Given the description of an element on the screen output the (x, y) to click on. 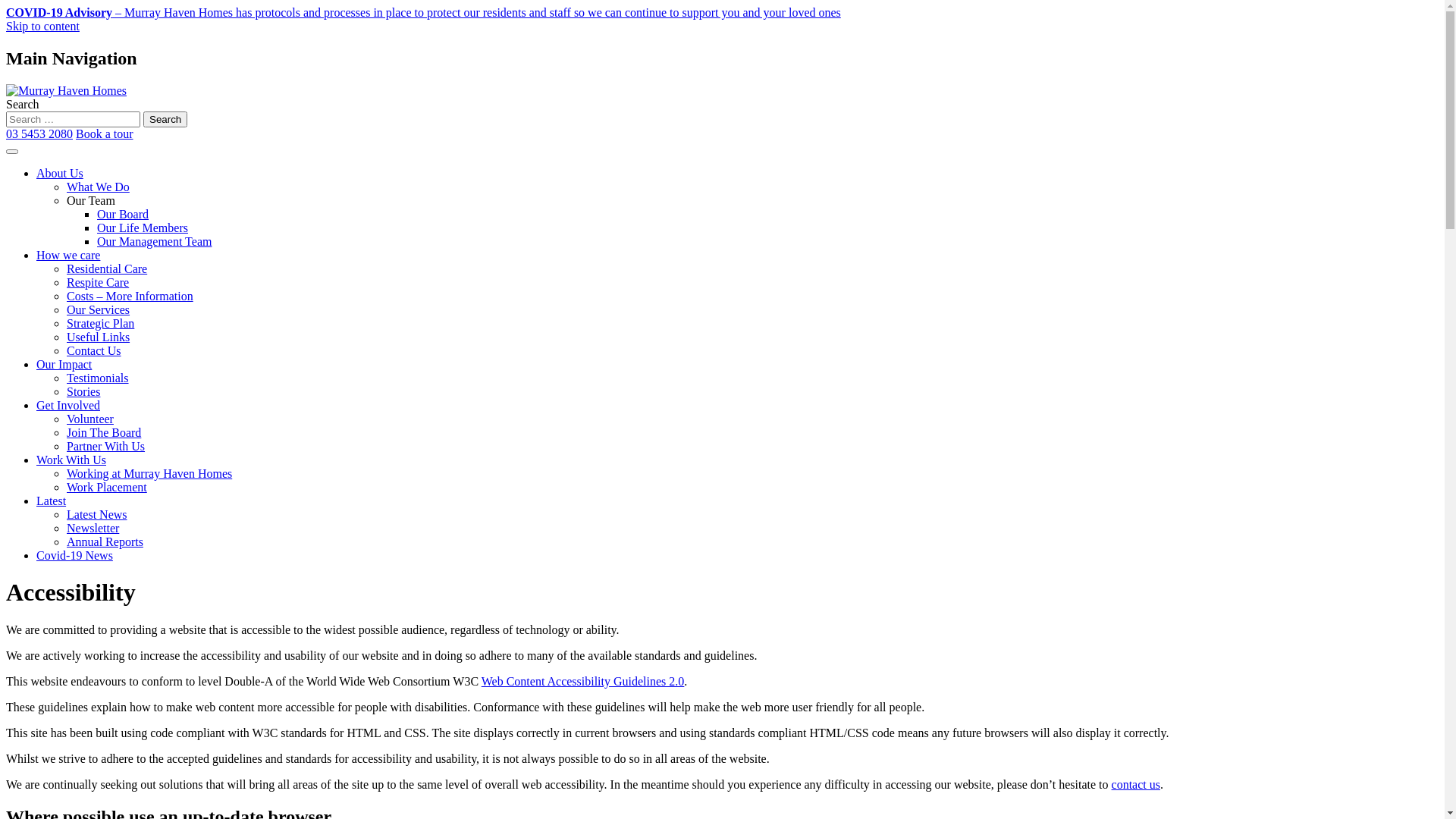
Volunteer Element type: text (89, 418)
Newsletter Element type: text (92, 527)
Contact Us Element type: text (93, 350)
Search Element type: text (165, 119)
Book a tour Element type: text (104, 133)
Work With Us Element type: text (71, 459)
Testimonials Element type: text (97, 377)
Get Involved Element type: text (68, 404)
Our Board Element type: text (122, 213)
Residential Care Element type: text (106, 268)
Partner With Us Element type: text (105, 445)
Useful Links Element type: text (97, 336)
Strategic Plan Element type: text (100, 322)
What We Do Element type: text (97, 186)
Covid-19 News Element type: text (74, 555)
Join The Board Element type: text (103, 432)
Our Impact Element type: text (63, 363)
Work Placement Element type: text (106, 486)
Latest Element type: text (50, 500)
03 5453 2080 Element type: text (39, 133)
Skip to content Element type: text (42, 25)
Our Management Team Element type: text (154, 241)
contact us Element type: text (1135, 784)
Annual Reports Element type: text (104, 541)
About Us Element type: text (59, 172)
Working at Murray Haven Homes Element type: text (149, 473)
Web Content Accessibility Guidelines 2.0 Element type: text (582, 680)
Our Life Members Element type: text (142, 227)
Our Team Element type: text (90, 200)
How we care Element type: text (68, 254)
Respite Care Element type: text (97, 282)
Our Services Element type: text (97, 309)
Stories Element type: text (83, 391)
Latest News Element type: text (96, 514)
